Given the description of an element on the screen output the (x, y) to click on. 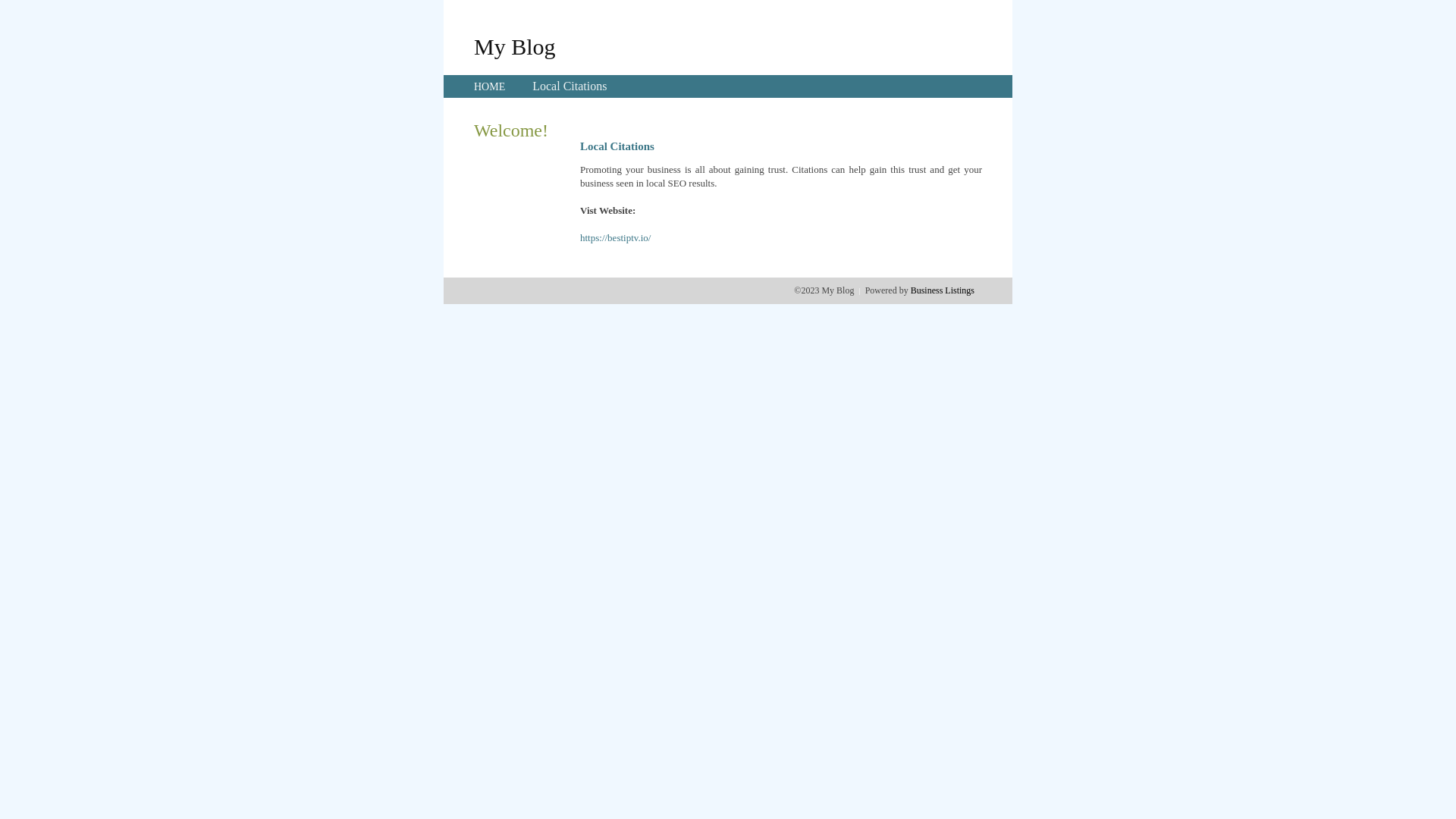
My Blog Element type: text (514, 46)
HOME Element type: text (489, 86)
https://bestiptv.io/ Element type: text (615, 237)
Local Citations Element type: text (569, 85)
Business Listings Element type: text (942, 290)
